Given the description of an element on the screen output the (x, y) to click on. 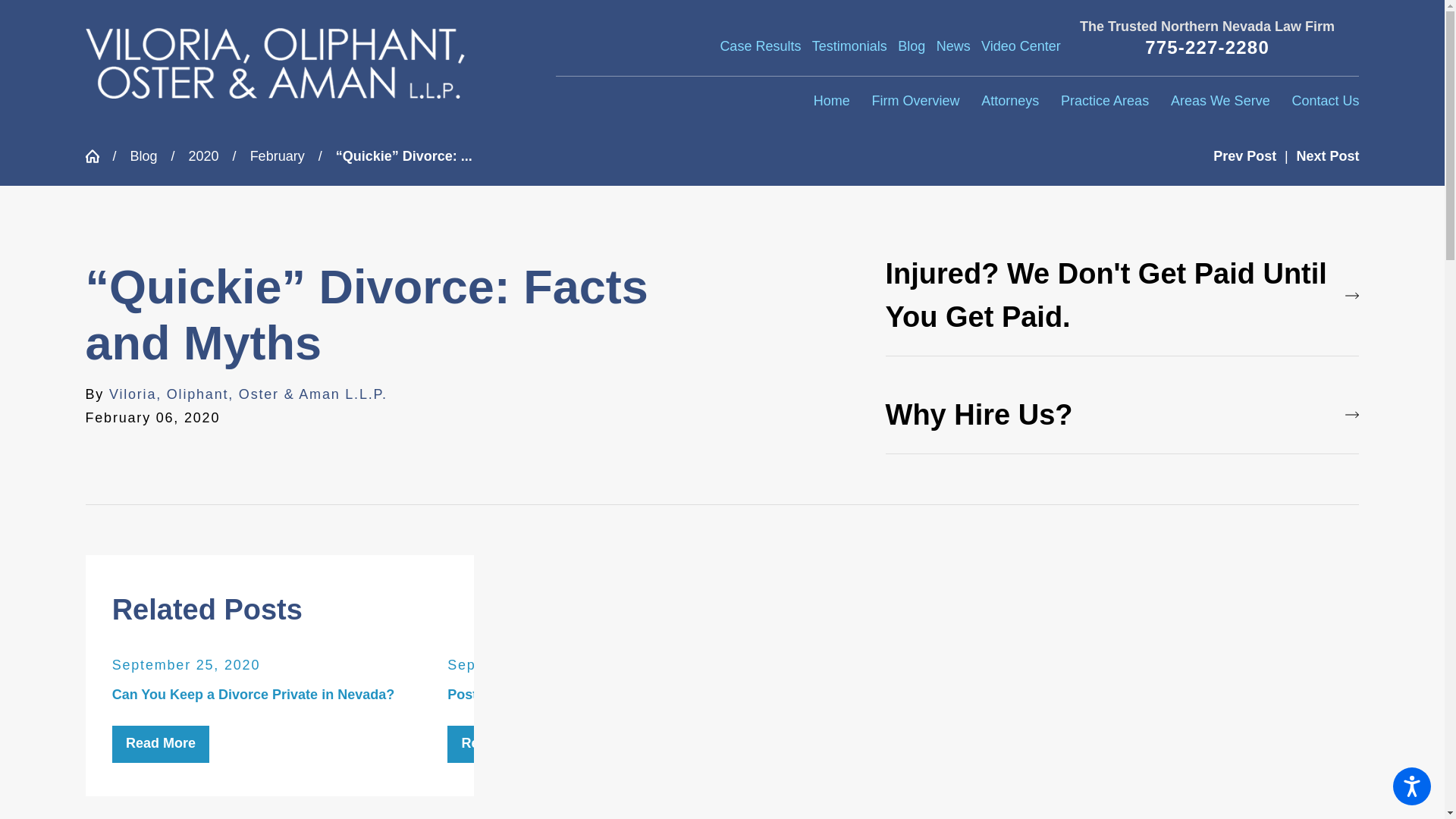
Go Home (98, 155)
Attorneys (1010, 101)
Blog (911, 46)
Firm Overview (914, 101)
Case Results (759, 46)
Practice Areas (1104, 101)
775-227-2280 (1207, 47)
Video Center (1021, 46)
News (953, 46)
Testimonials (849, 46)
Open the accessibility options menu (1412, 786)
